Given the description of an element on the screen output the (x, y) to click on. 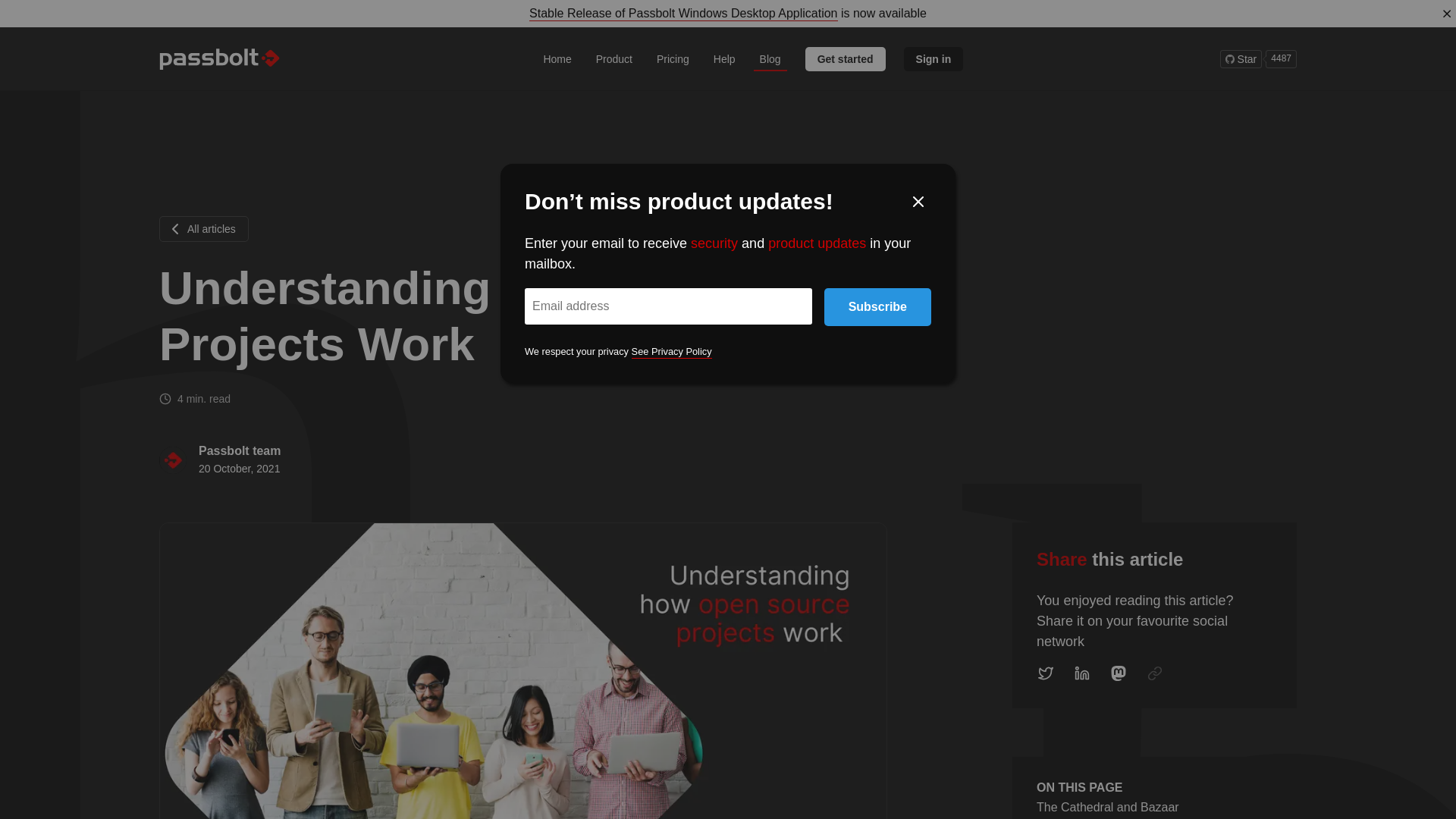
Get started (845, 58)
Home (556, 58)
Passbolt (219, 58)
Pricing (672, 58)
Stable Release of Passbolt Windows Desktop Application (683, 12)
Help (724, 58)
Sign in (933, 58)
Blog (770, 58)
Product (1258, 58)
All articles (614, 58)
